Given the description of an element on the screen output the (x, y) to click on. 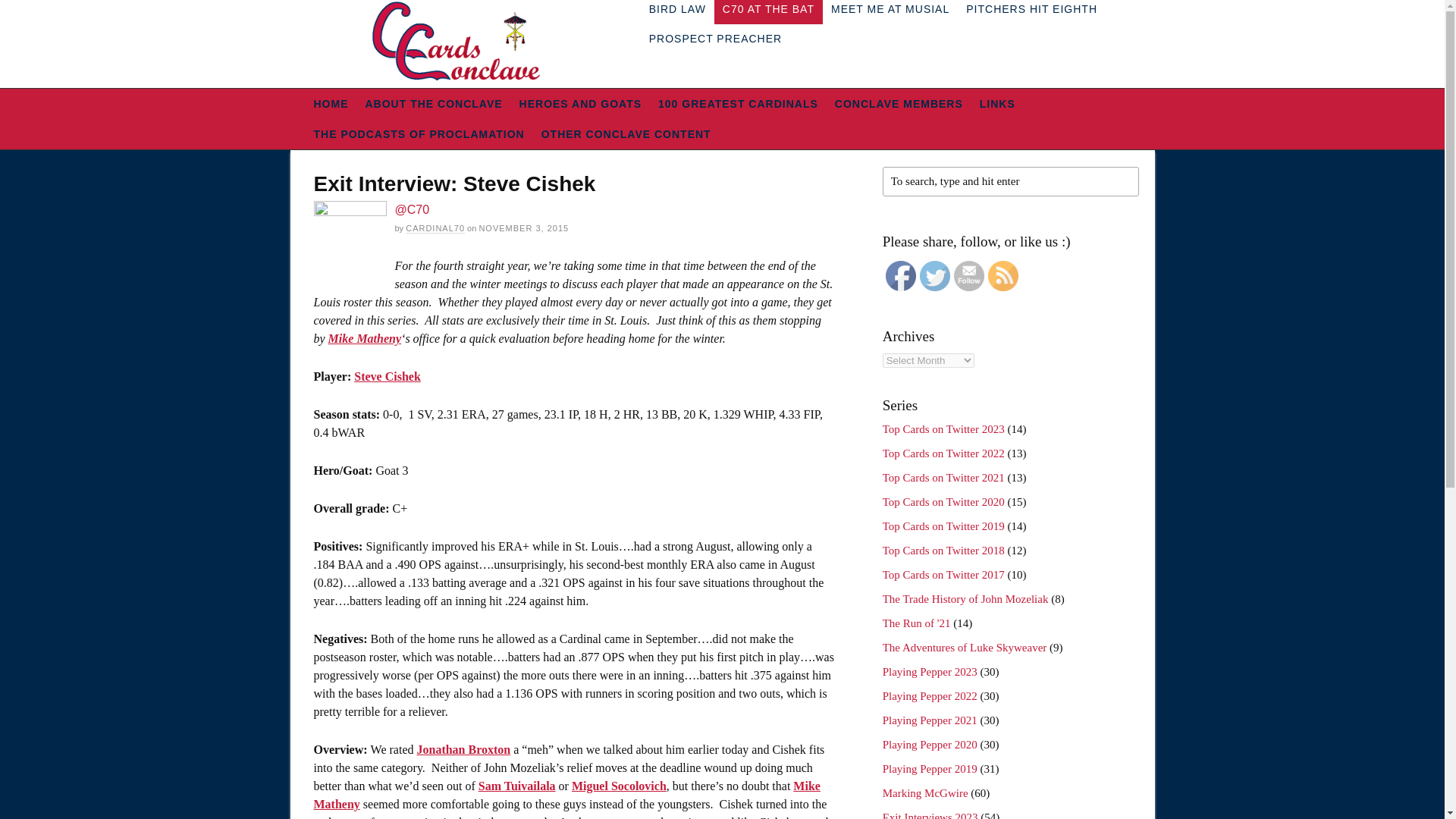
MEET ME AT MUSIAL (890, 12)
CARDINAL70 (435, 228)
Follow by Email (968, 276)
PROSPECT PREACHER (715, 39)
HEROES AND GOATS (580, 103)
Twitter (935, 276)
Facebook (900, 276)
2015-11-03 (524, 227)
100 GREATEST CARDINALS (738, 103)
HOME (330, 103)
To search, type and hit enter (1010, 181)
CONCLAVE MEMBERS (899, 103)
Mike Matheny (365, 338)
PITCHERS HIT EIGHTH (1031, 12)
RSS (1002, 276)
